Given the description of an element on the screen output the (x, y) to click on. 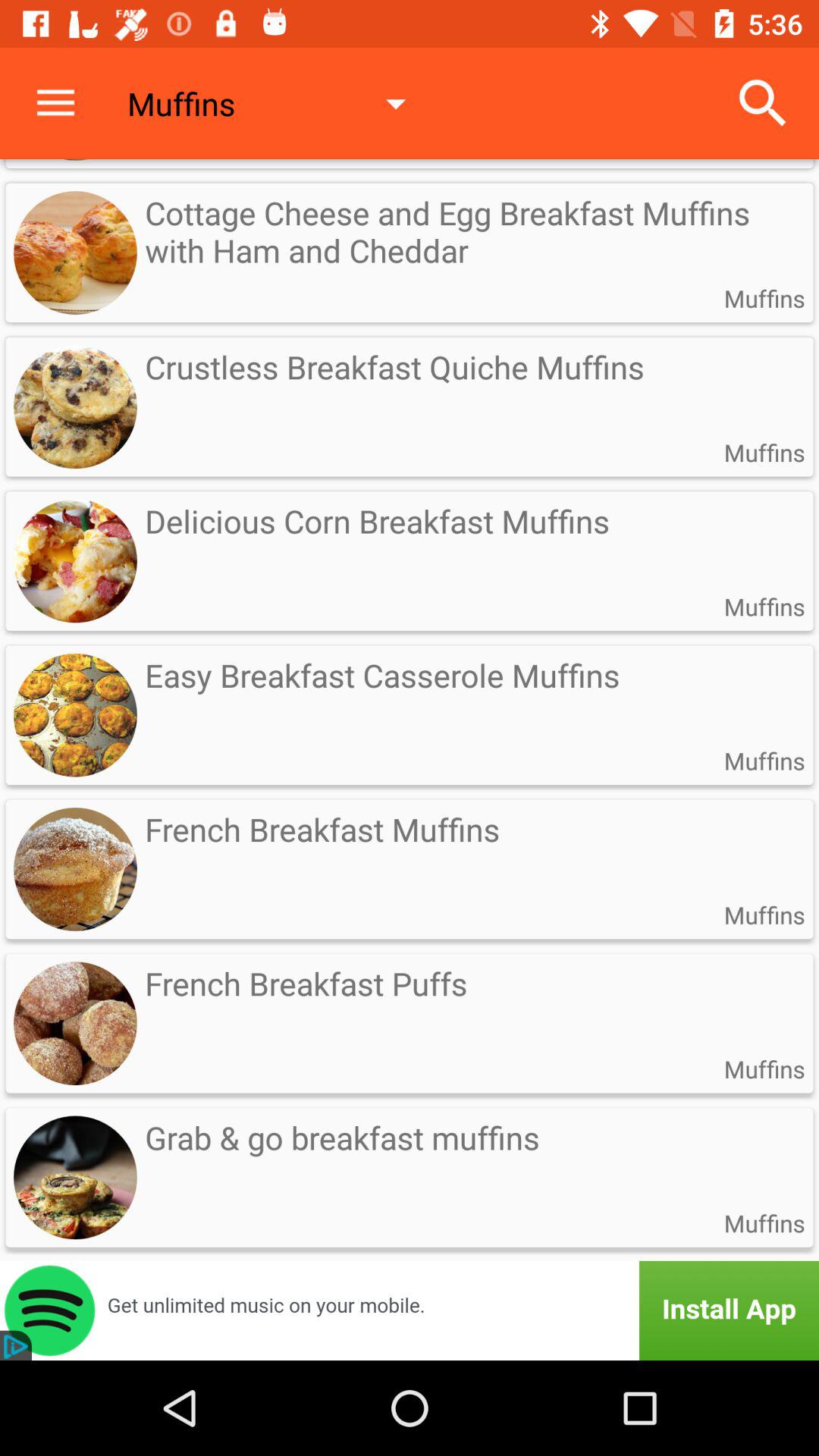
install option (409, 1310)
